Given the description of an element on the screen output the (x, y) to click on. 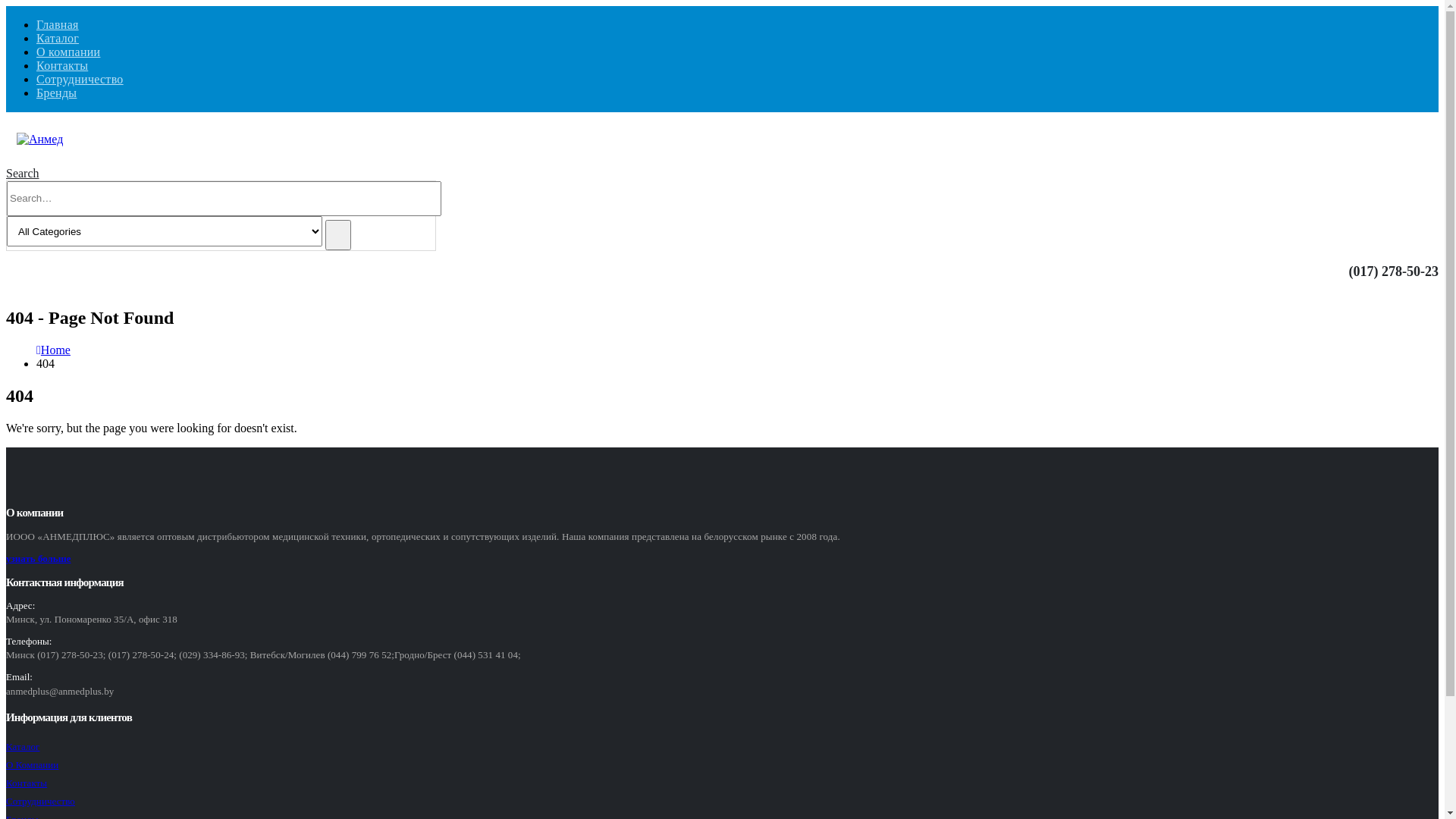
Search Element type: hover (338, 234)
Home Element type: text (55, 349)
Search Element type: text (22, 172)
